Given the description of an element on the screen output the (x, y) to click on. 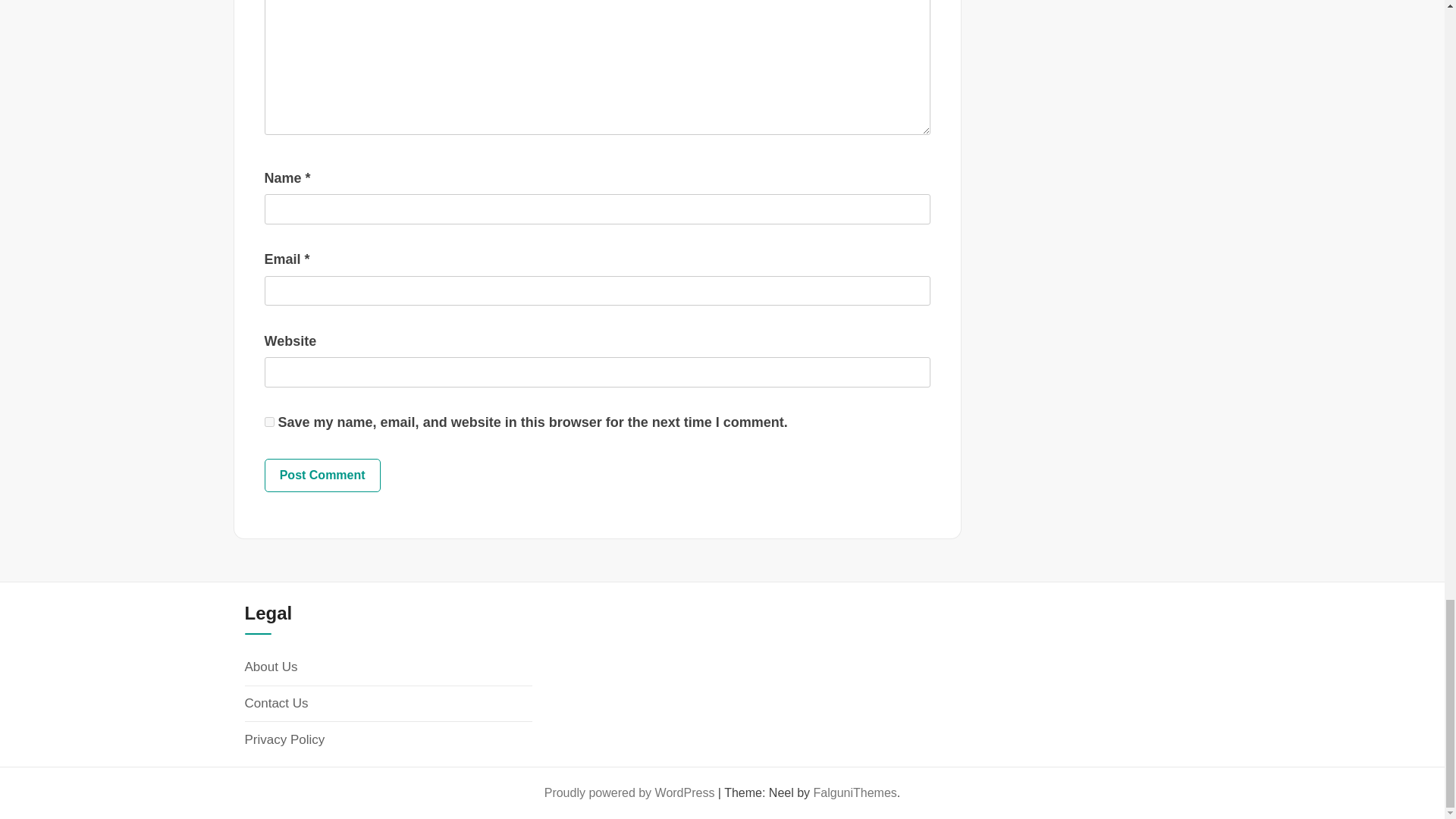
Post Comment (321, 475)
Post Comment (321, 475)
yes (268, 421)
